Given the description of an element on the screen output the (x, y) to click on. 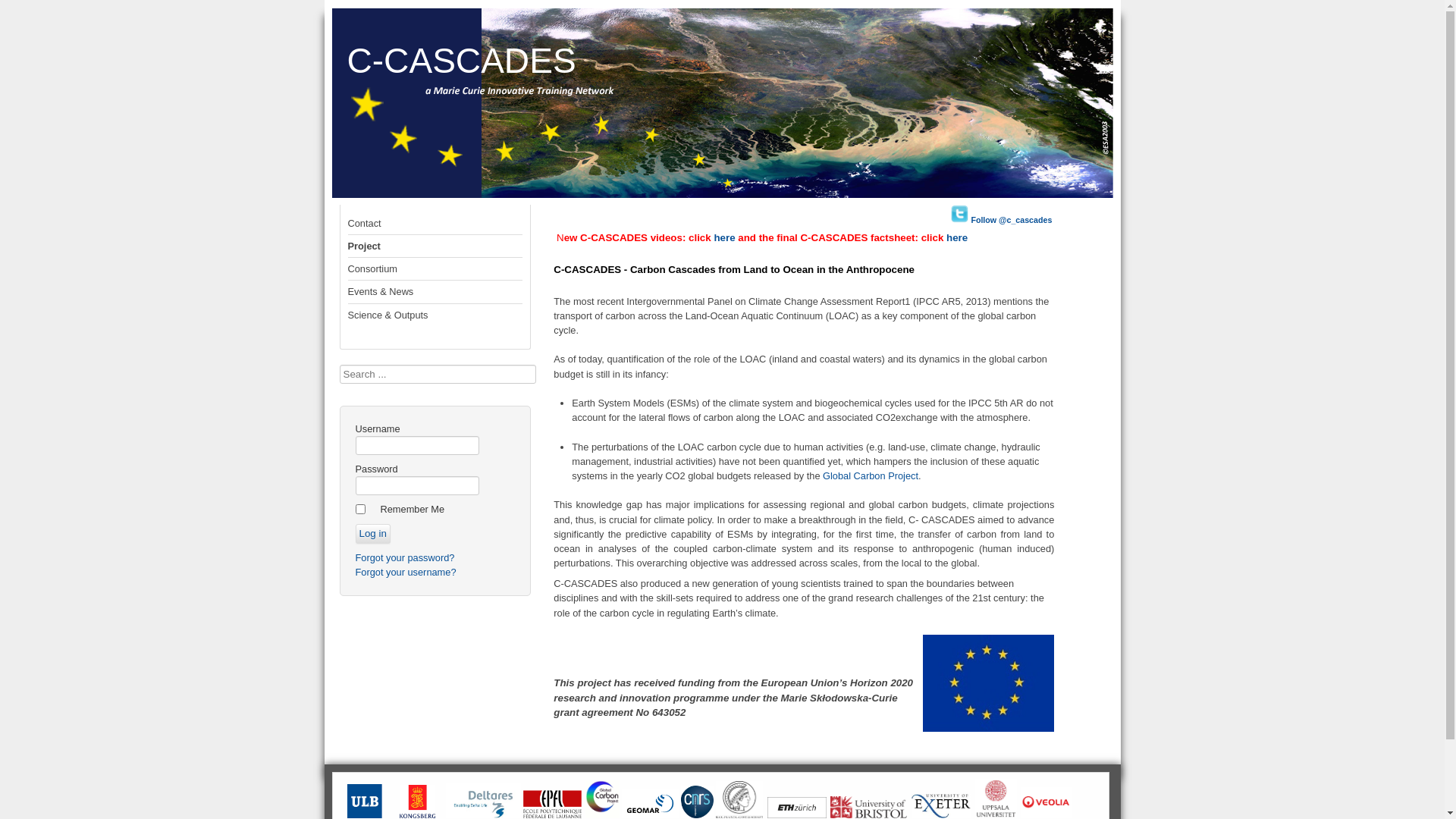
Science & Outputs Element type: text (434, 315)
Forgot your username? Element type: text (404, 571)
Consortium Element type: text (434, 268)
Project Element type: text (434, 246)
 Follow @c_cascades Element type: text (1000, 219)
Forgot your password? Element type: text (404, 557)
here Element type: text (723, 237)
Log in Element type: text (371, 533)
Global Carbon Project Element type: text (870, 475)
Events & News Element type: text (434, 291)
here Element type: text (956, 237)
Contact Element type: text (434, 223)
